Given the description of an element on the screen output the (x, y) to click on. 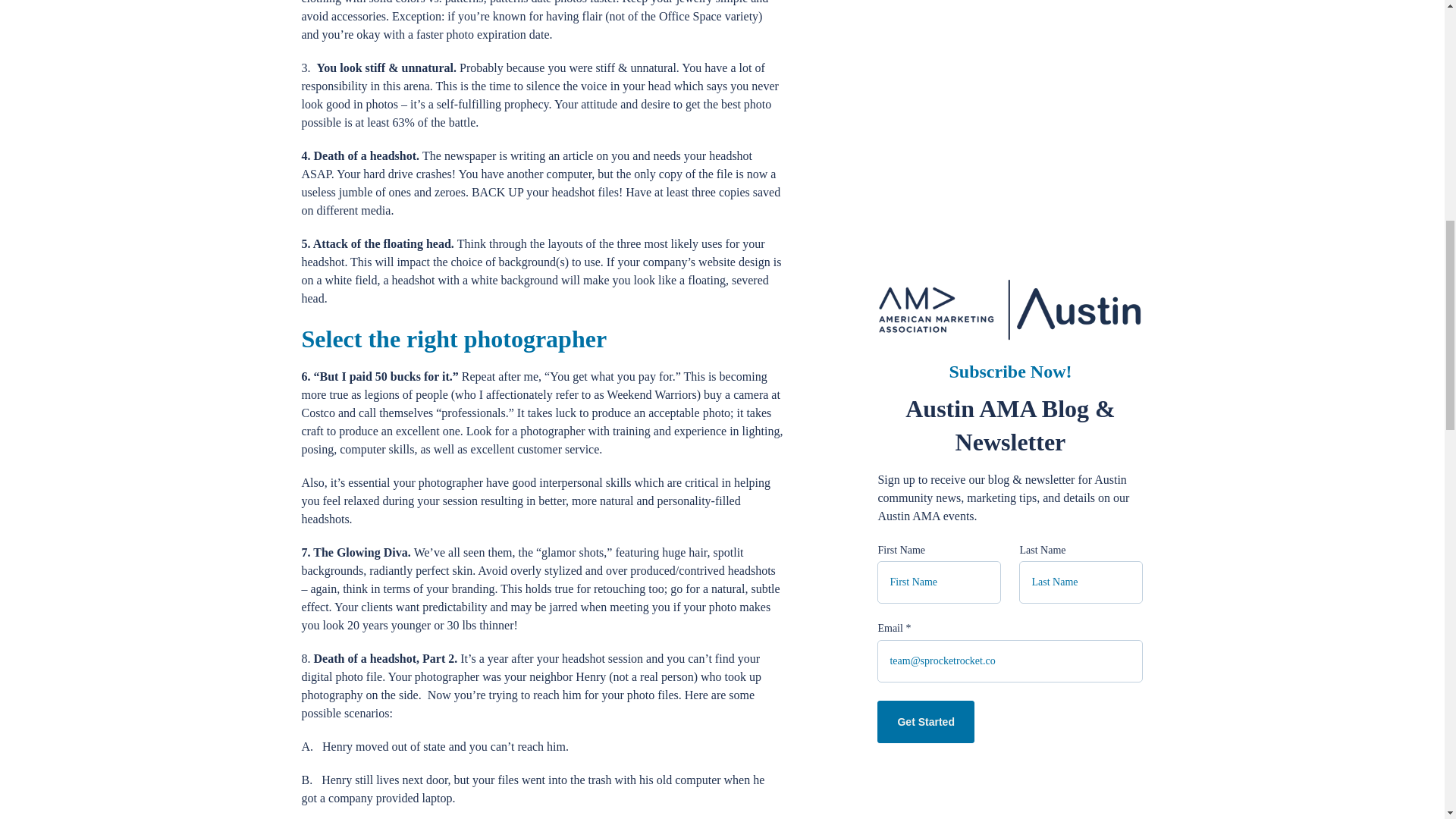
Get Started (925, 211)
